Given the description of an element on the screen output the (x, y) to click on. 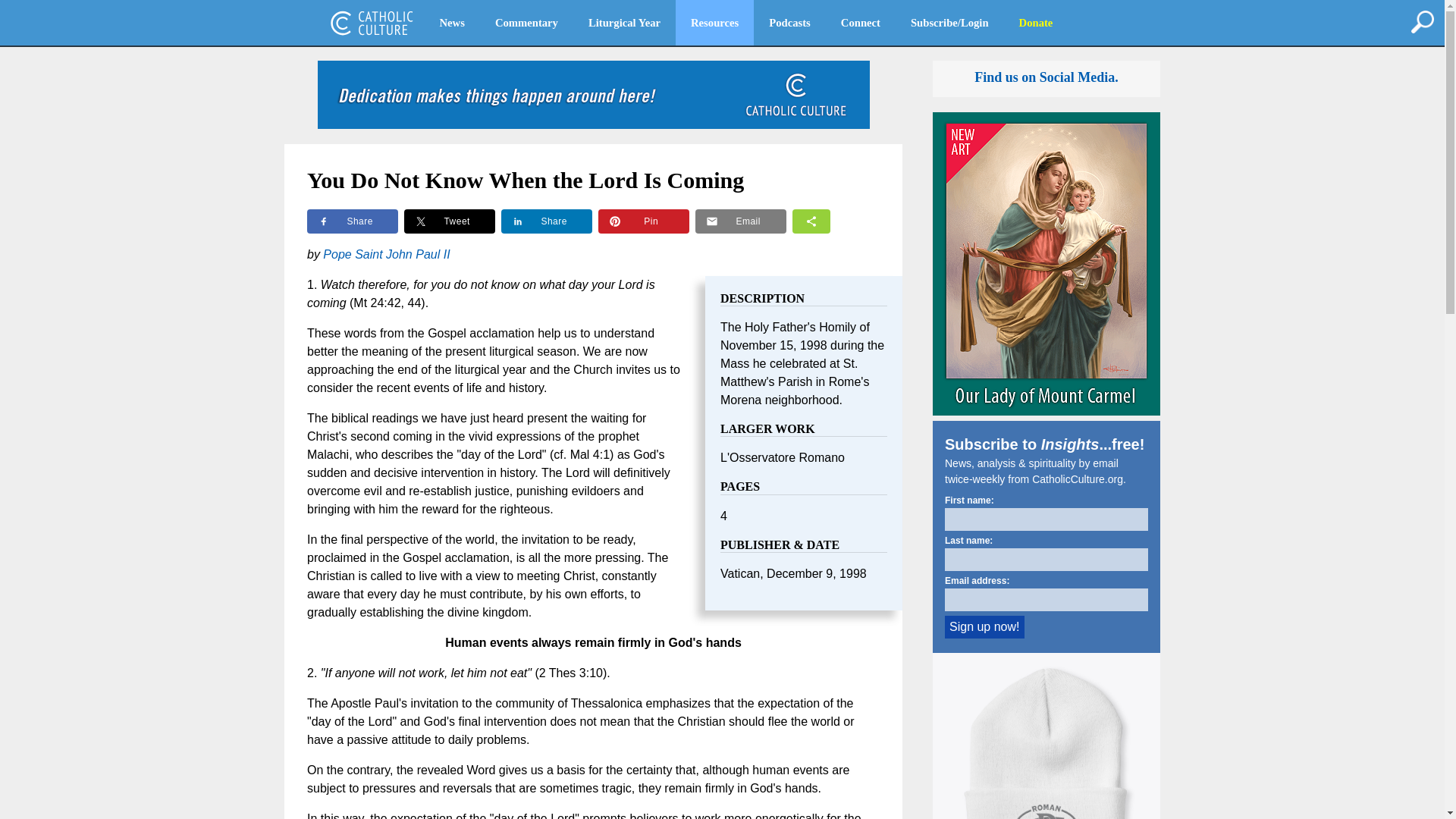
Liturgical Year (624, 22)
Resources (714, 22)
CatholicCulture.org (371, 22)
Commentary (526, 22)
Sign up now! (984, 626)
Podcasts (789, 22)
News (452, 22)
